Given the description of an element on the screen output the (x, y) to click on. 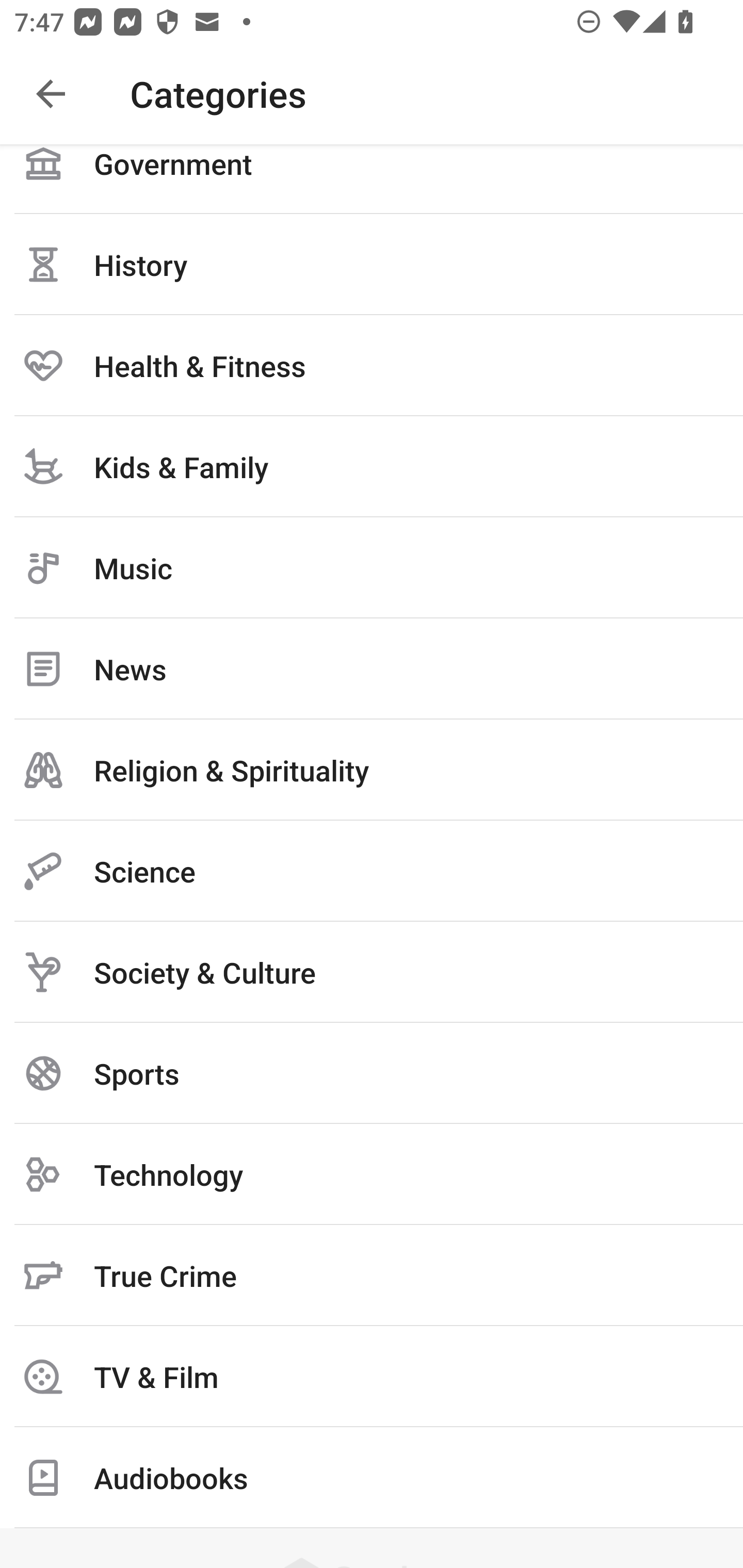
Navigate up (50, 93)
Government (371, 179)
History (371, 264)
Health & Fitness (371, 365)
Kids & Family (371, 466)
Music (371, 567)
News (371, 668)
Religion & Spirituality (371, 769)
Science (371, 870)
Society & Culture (371, 971)
Sports (371, 1073)
Technology (371, 1174)
True Crime (371, 1275)
TV & Film (371, 1376)
Audiobooks (371, 1477)
